Given the description of an element on the screen output the (x, y) to click on. 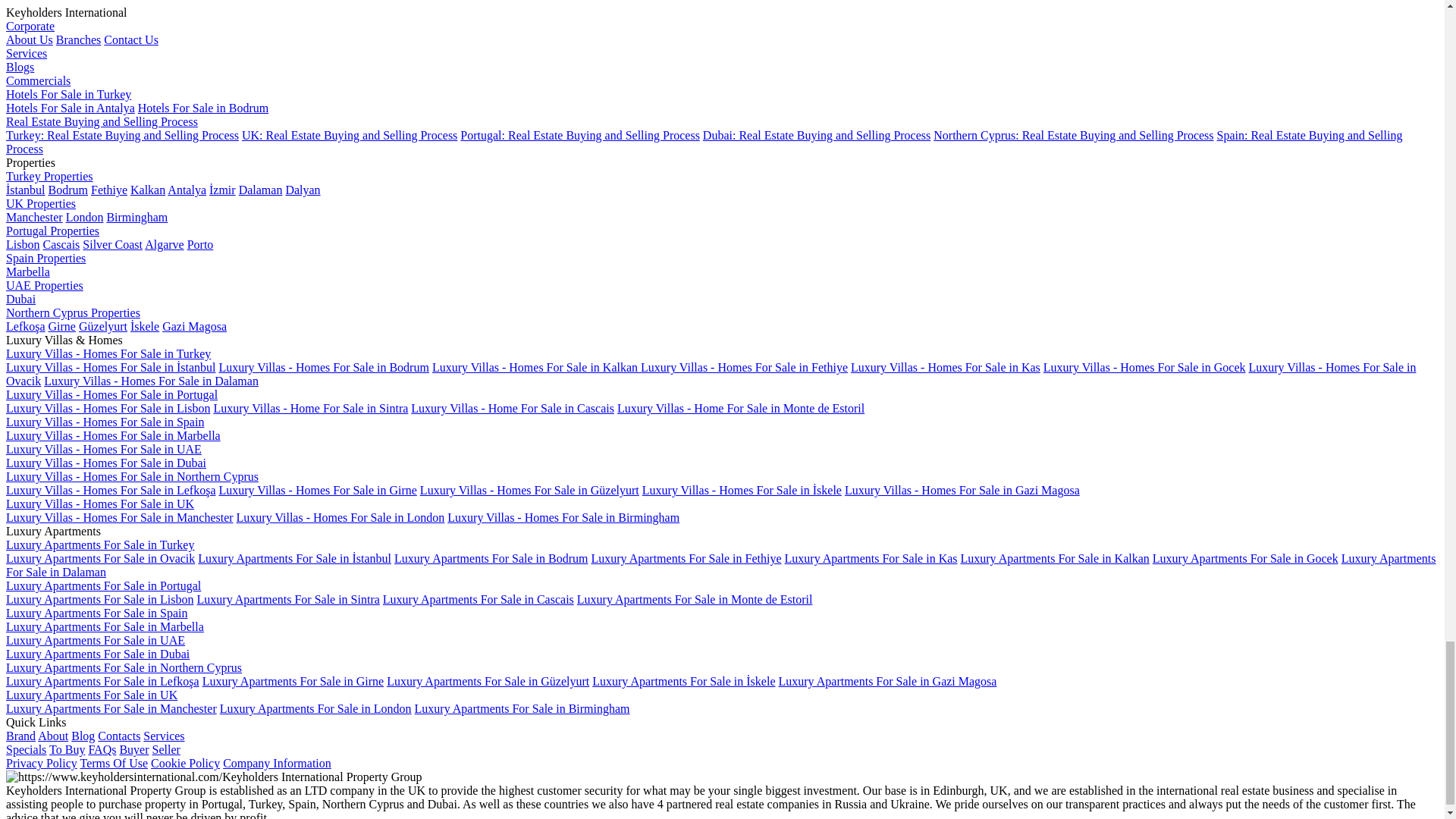
Contact Us (130, 39)
Corporate (30, 25)
Services (25, 52)
About Us (28, 39)
Hotels For Sale in Antalya (70, 107)
Commercials (37, 80)
Blogs (19, 66)
Branches (78, 39)
Hotels For Sale in Turkey (68, 93)
